Given the description of an element on the screen output the (x, y) to click on. 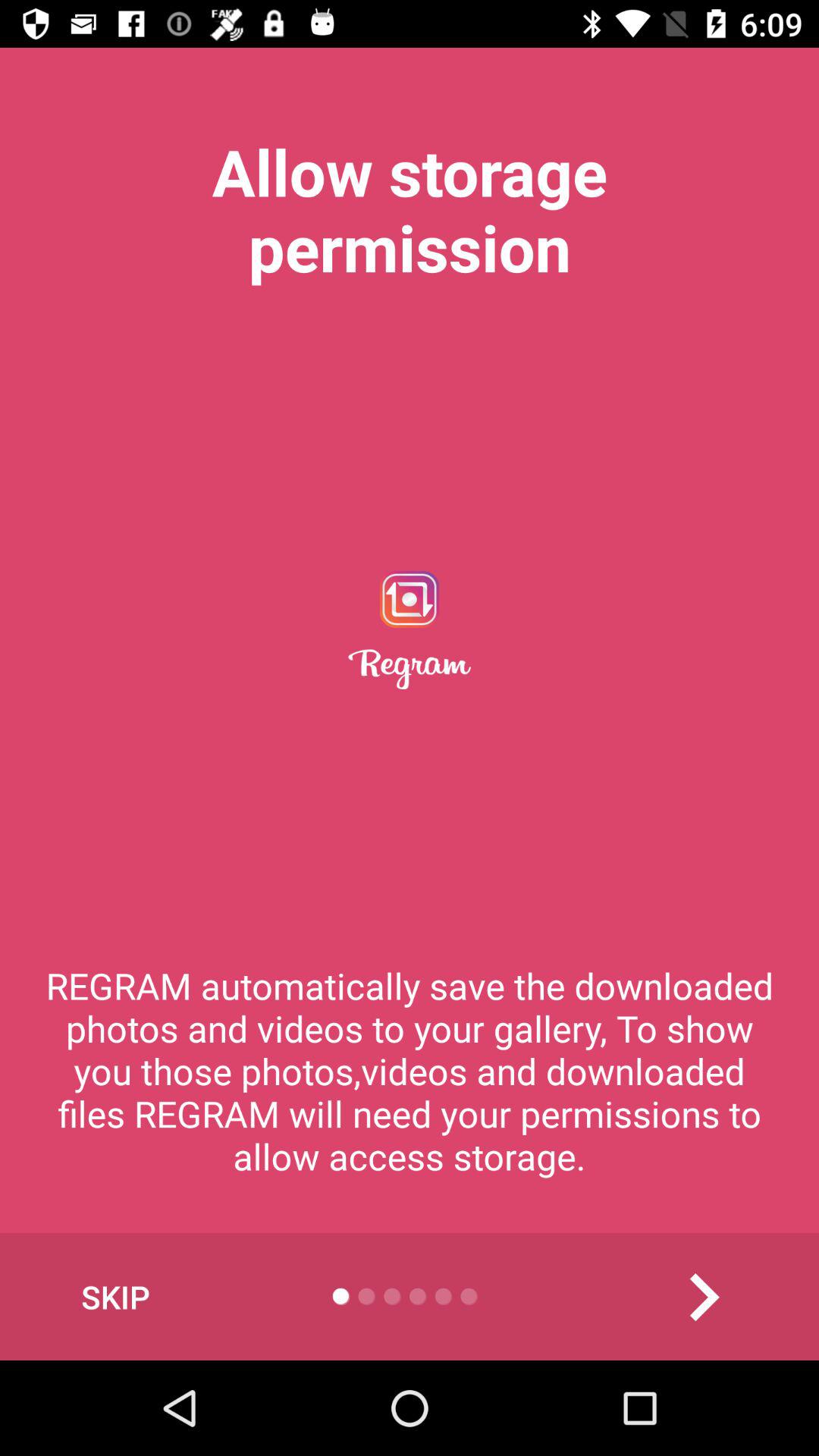
turn on the item at the bottom right corner (703, 1296)
